Given the description of an element on the screen output the (x, y) to click on. 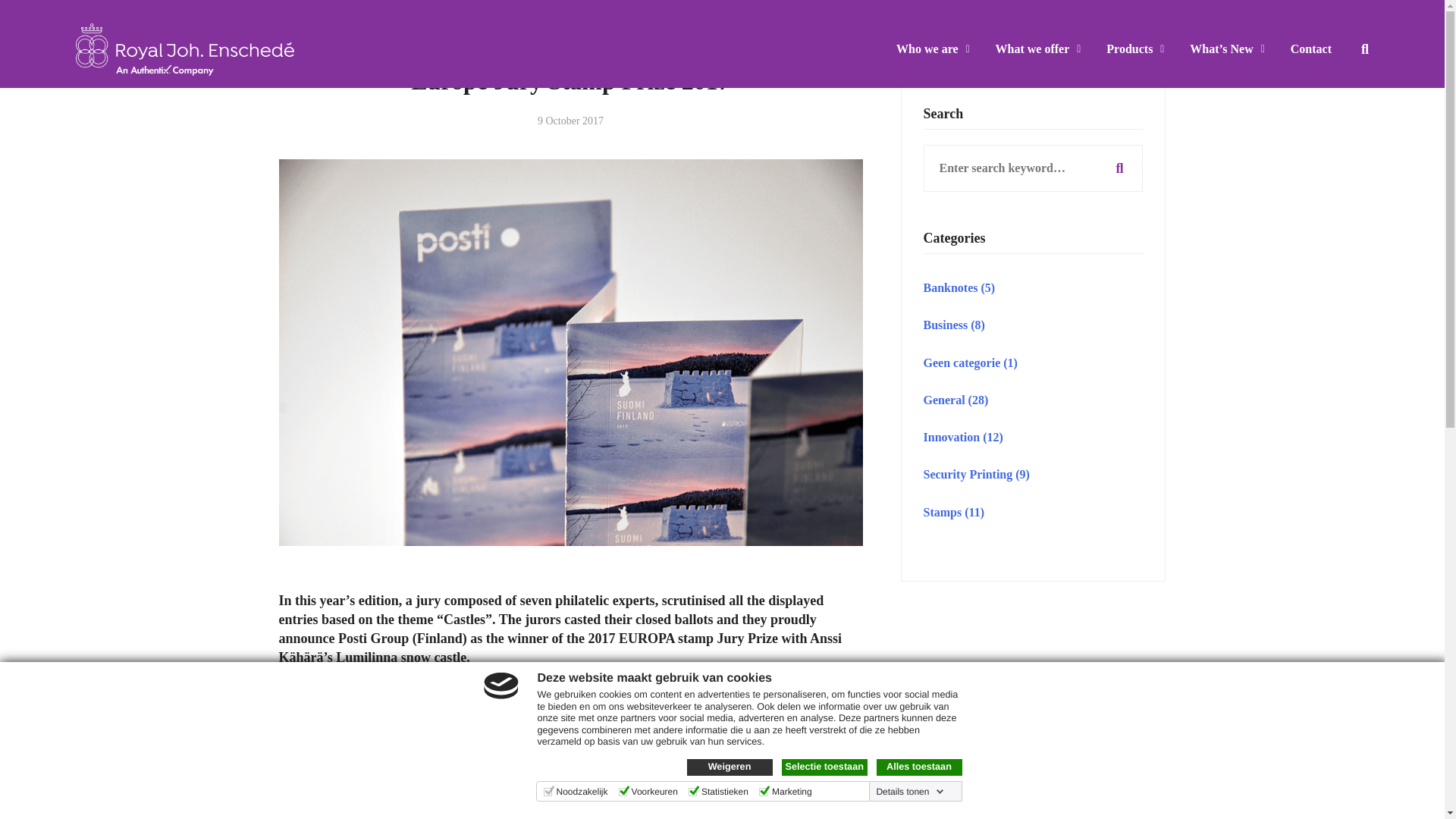
Alles toestaan (919, 767)
Weigeren (730, 767)
Details tonen (909, 791)
Selectie toestaan (823, 767)
